Given the description of an element on the screen output the (x, y) to click on. 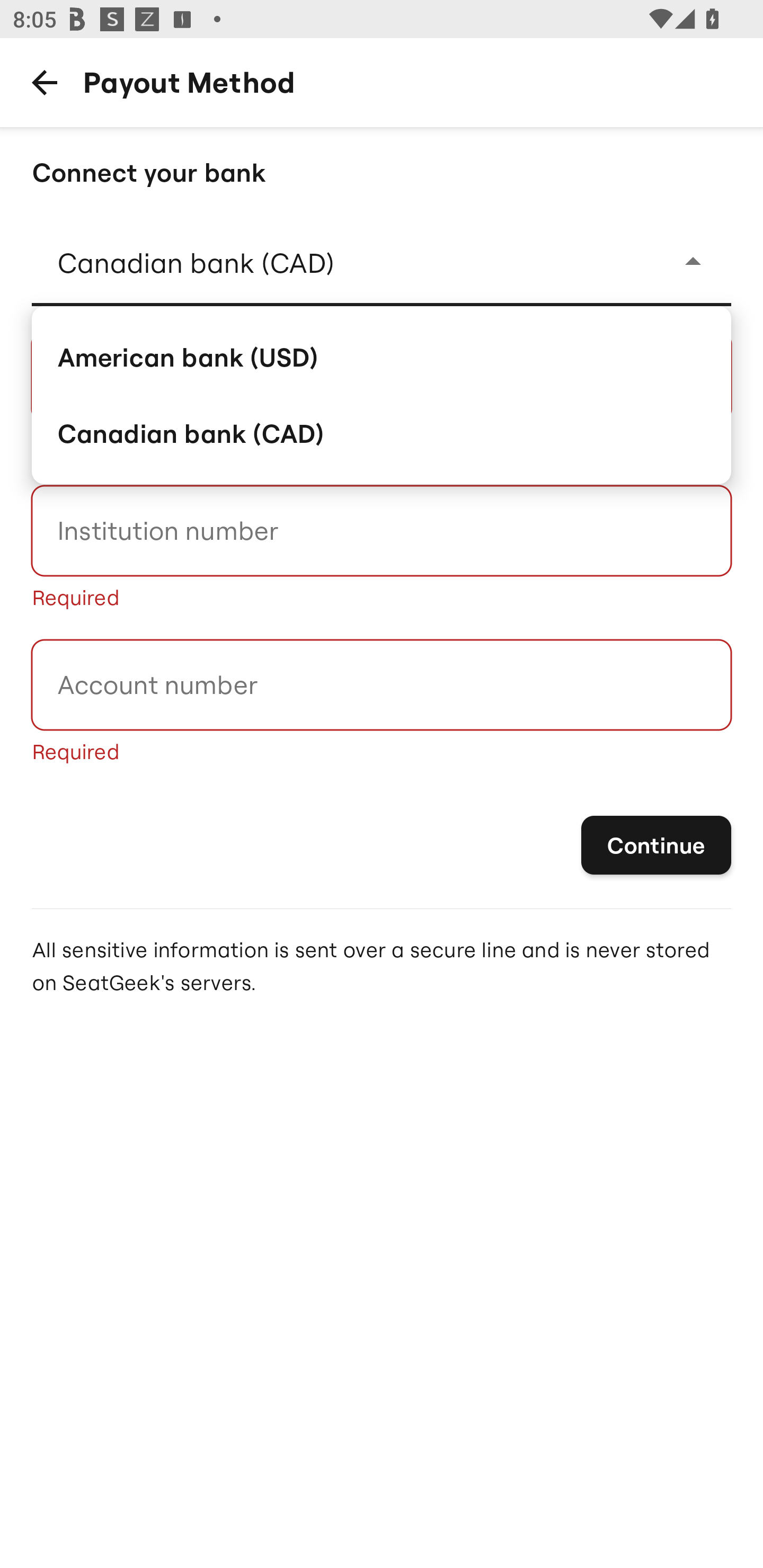
American bank (USD) (381, 356)
Canadian bank (CAD) (381, 433)
